Given the description of an element on the screen output the (x, y) to click on. 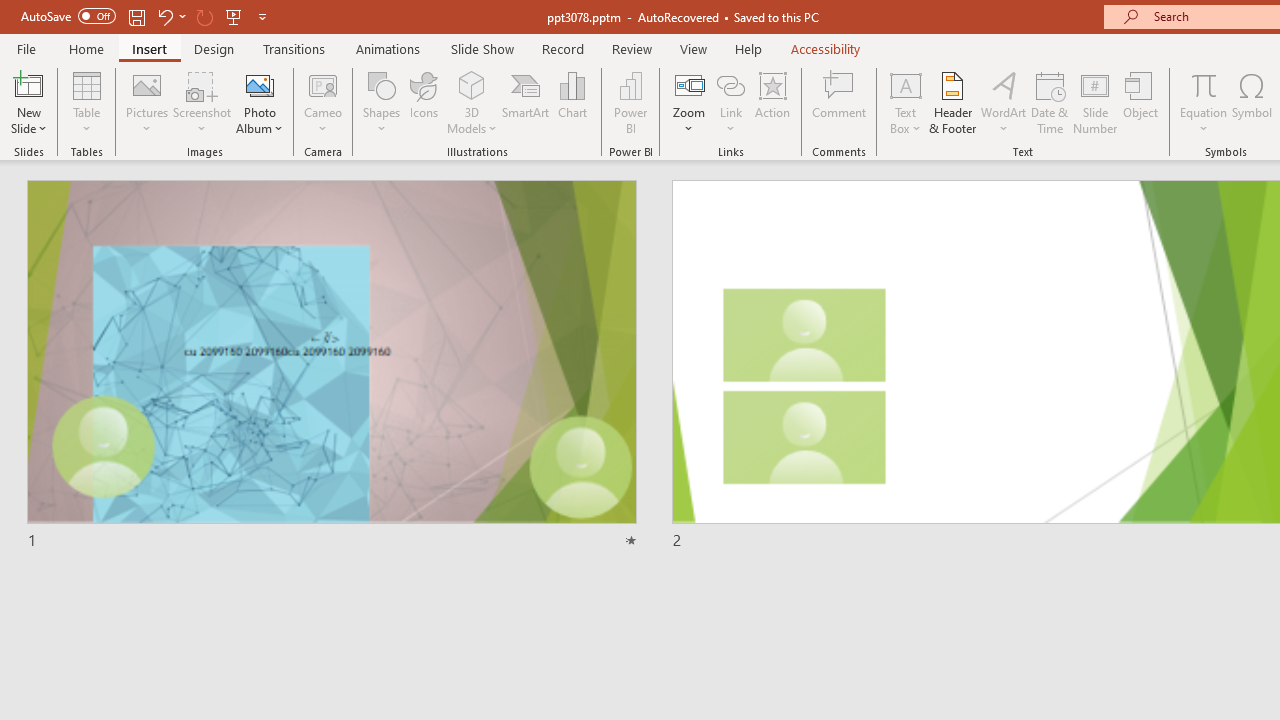
Equation (1203, 102)
Equation (1203, 84)
SmartArt... (525, 102)
3D Models (472, 84)
Icons (424, 102)
Pictures (147, 102)
WordArt (1004, 102)
Comment (839, 102)
Object... (1141, 102)
